Given the description of an element on the screen output the (x, y) to click on. 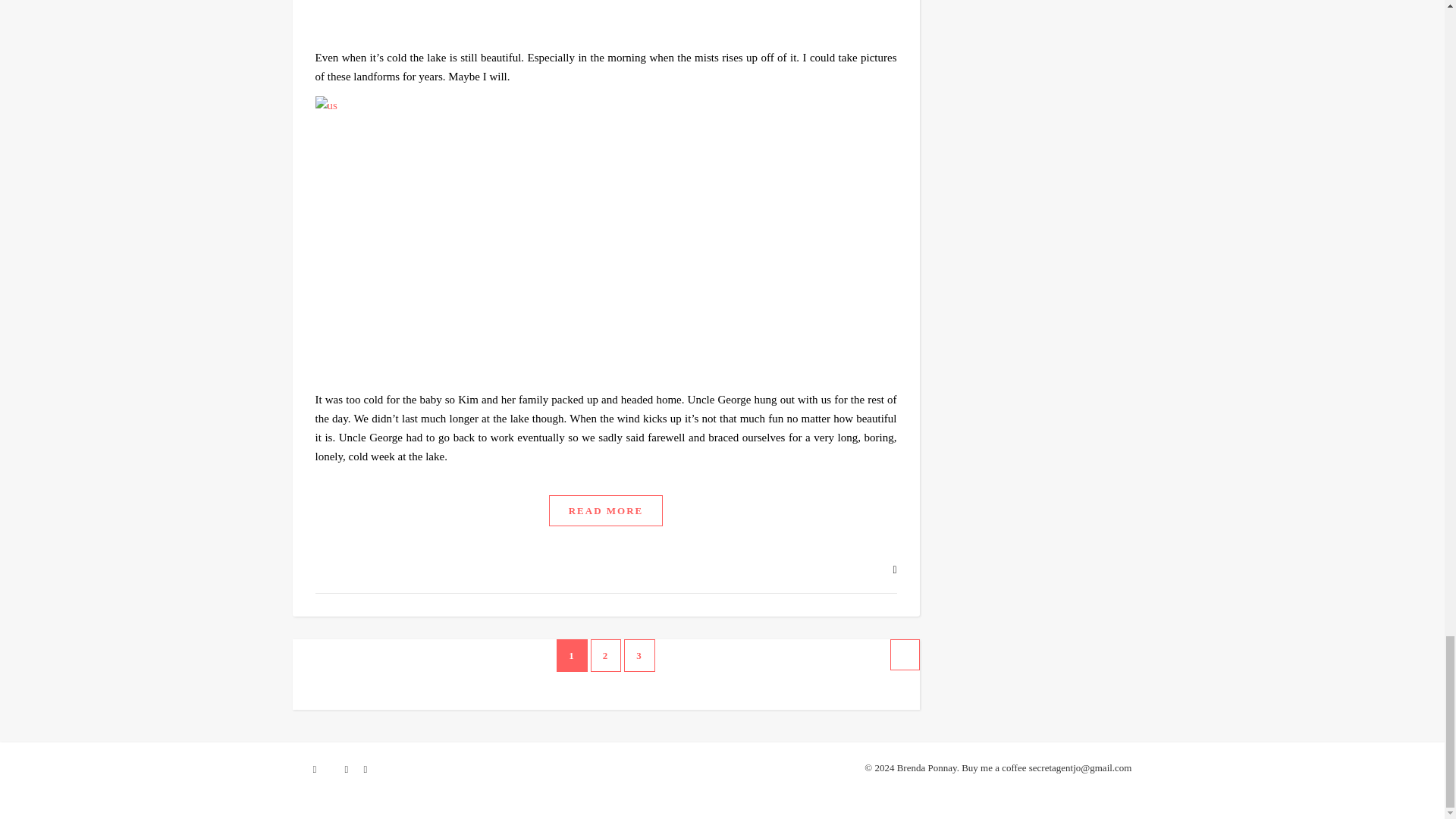
brrrrrrrrr! by secret agent josephine, on Flickr (605, 19)
READ MORE (605, 510)
